Given the description of an element on the screen output the (x, y) to click on. 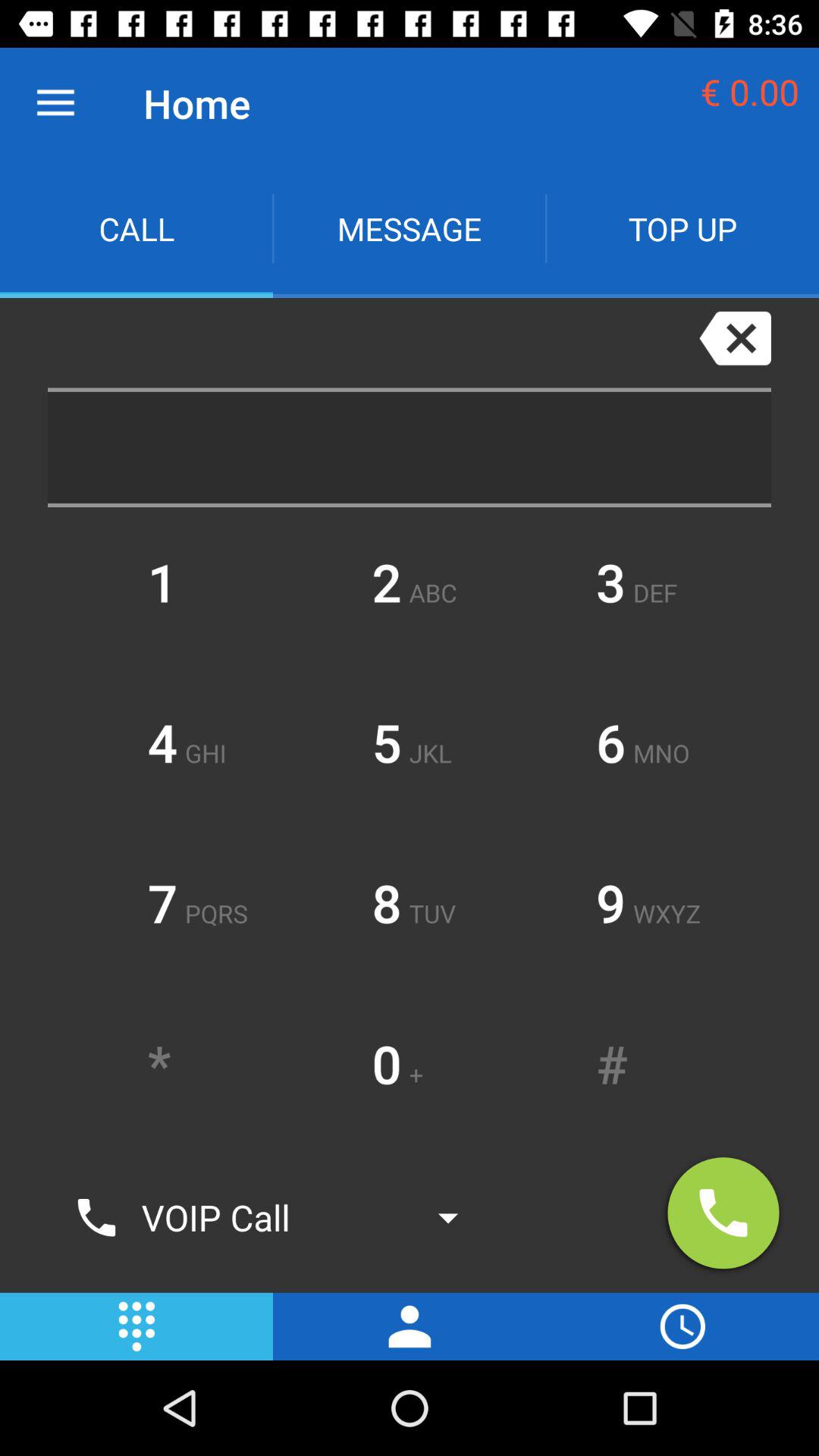
press the item below the top up icon (735, 337)
